Given the description of an element on the screen output the (x, y) to click on. 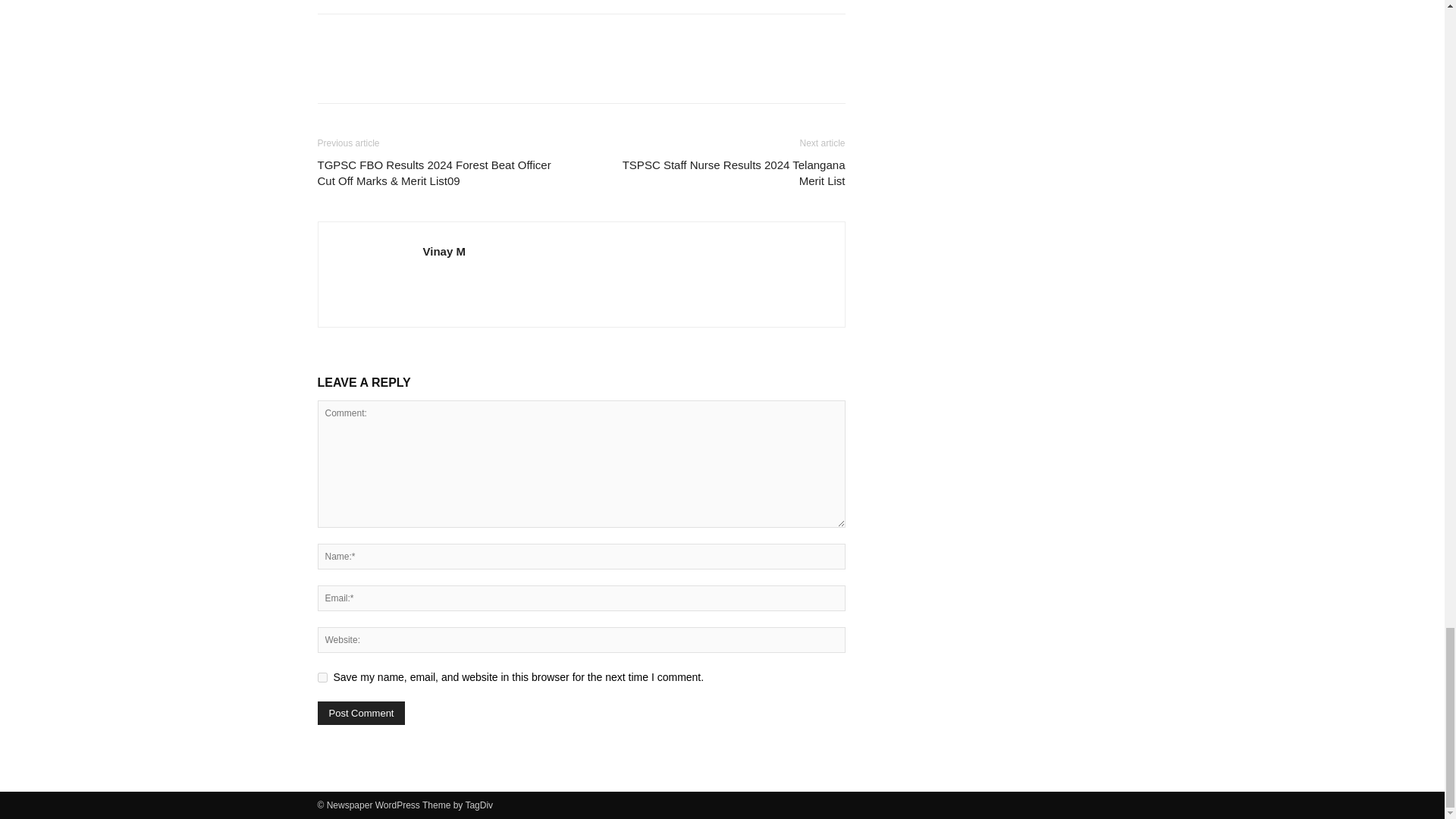
bottomFacebookLike (430, 37)
yes (321, 677)
Post Comment (360, 712)
